Given the description of an element on the screen output the (x, y) to click on. 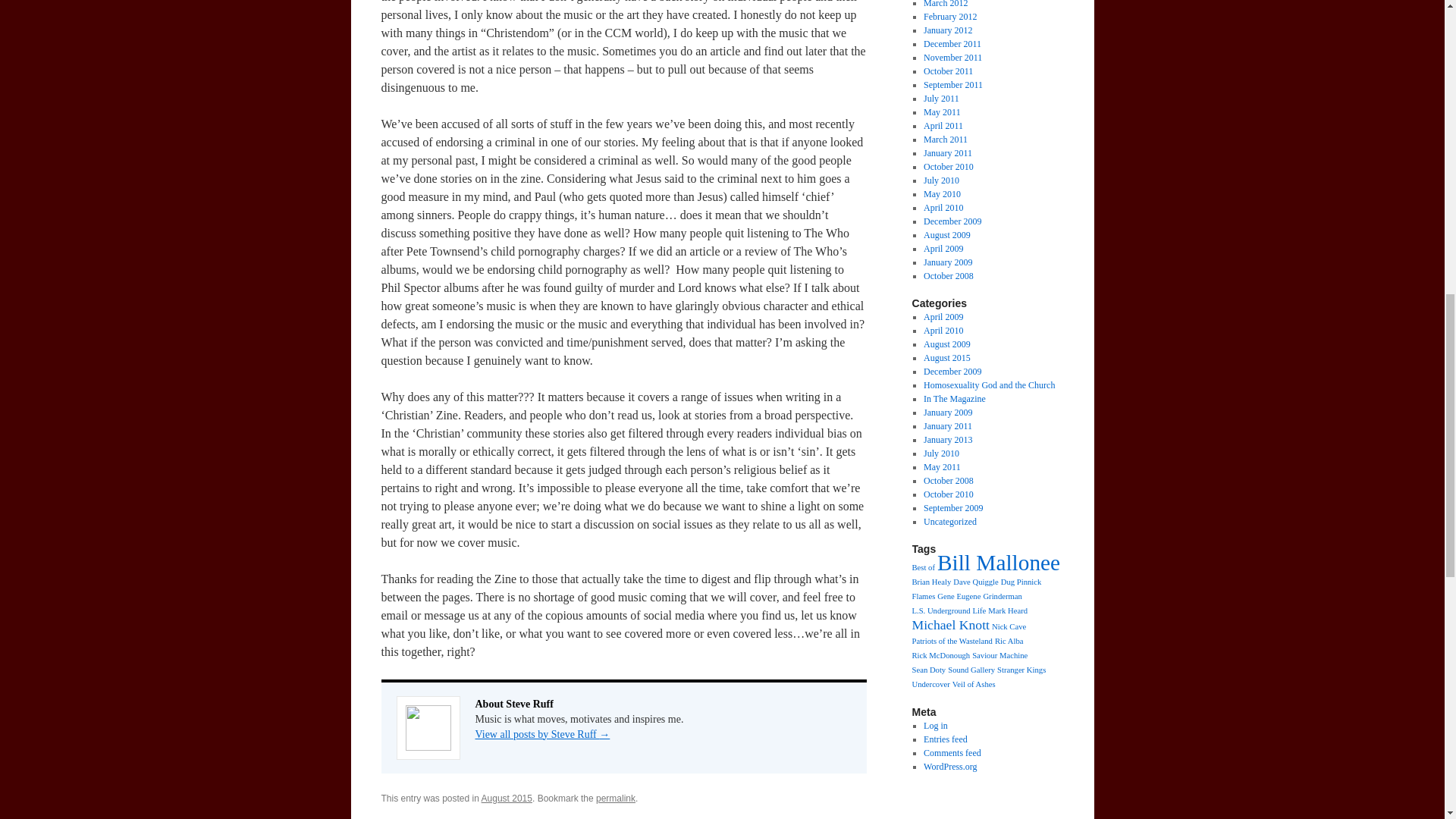
permalink (614, 798)
August 2015 (506, 798)
March 2012 (945, 4)
